Given the description of an element on the screen output the (x, y) to click on. 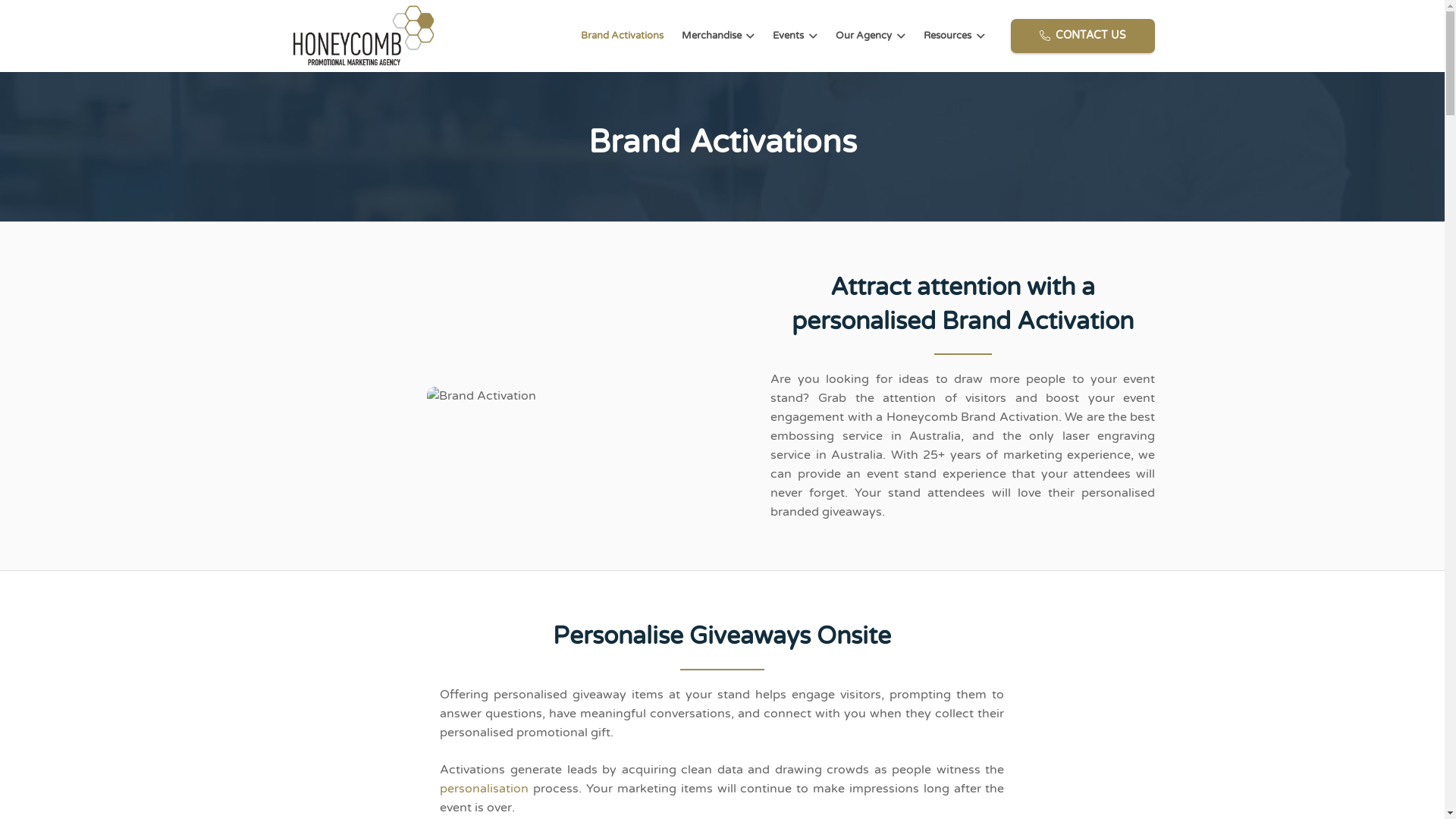
CONTACT US Element type: text (1082, 35)
Brand Activations Element type: text (621, 36)
Events Element type: text (794, 36)
Resources Element type: text (954, 36)
Merchandise Element type: text (718, 36)
Our Agency Element type: text (870, 36)
personalisation Element type: text (483, 788)
